Given the description of an element on the screen output the (x, y) to click on. 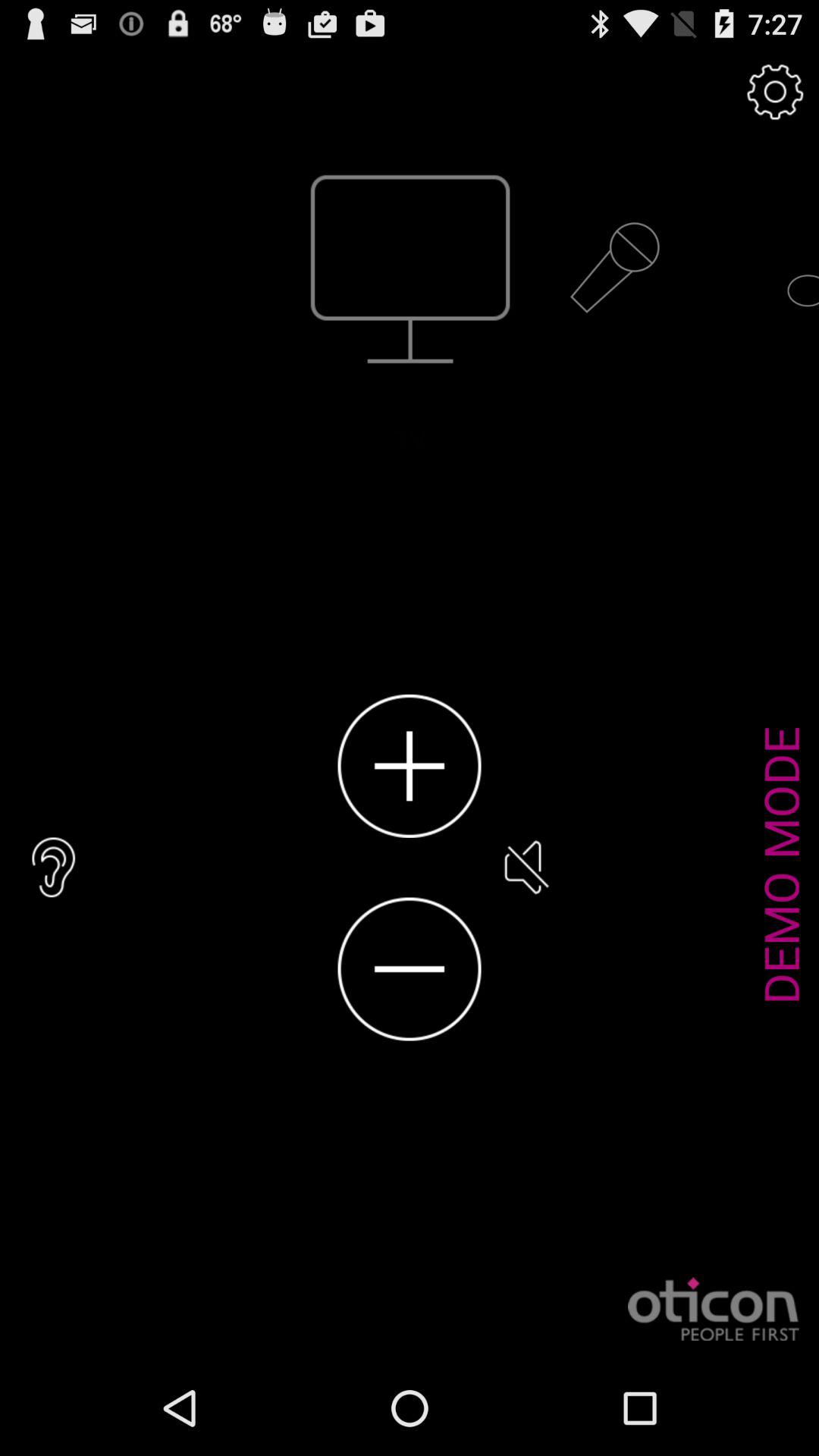
click item on the left (53, 867)
